Given the description of an element on the screen output the (x, y) to click on. 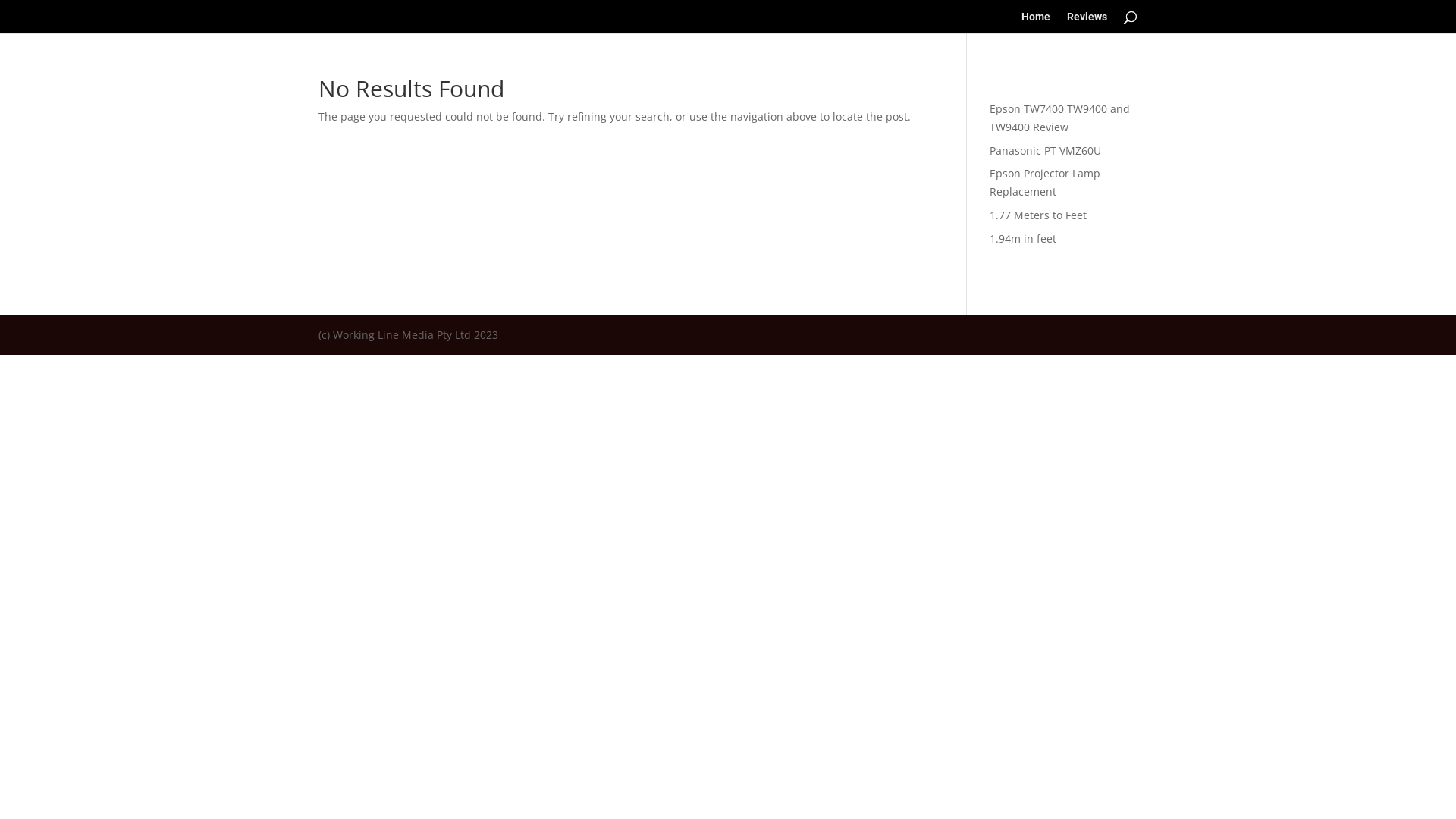
1.94m in feet Element type: text (1022, 238)
Epson Projector Lamp Replacement Element type: text (1044, 182)
Panasonic PT VMZ60U Element type: text (1045, 150)
Reviews Element type: text (1086, 22)
Epson TW7400 TW9400 and TW9400 Review Element type: text (1059, 117)
1.77 Meters to Feet Element type: text (1037, 214)
Home Element type: text (1035, 22)
